Given the description of an element on the screen output the (x, y) to click on. 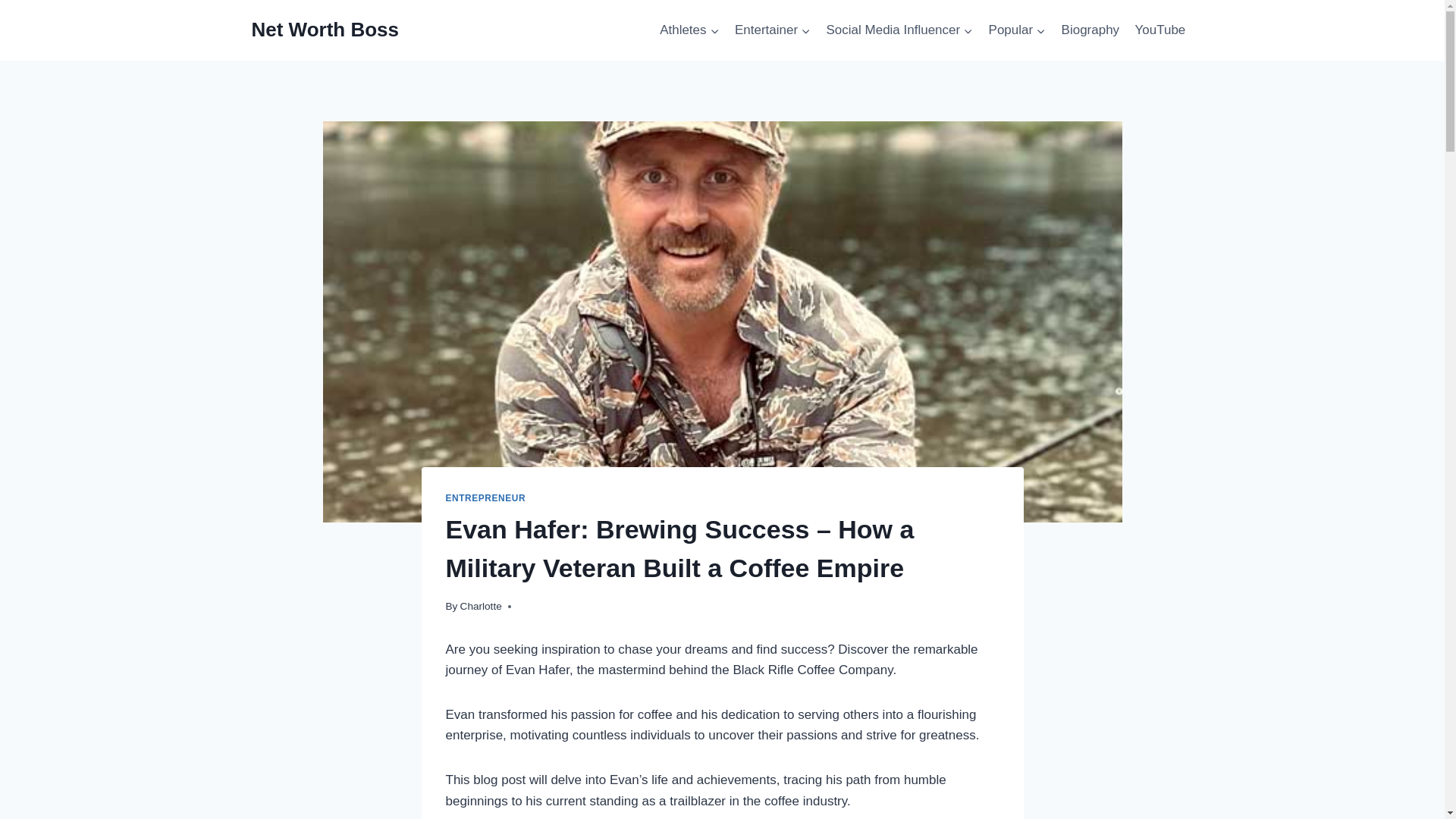
Social Media Influencer (898, 30)
Net Worth Boss (324, 29)
Athletes (689, 30)
ENTREPRENEUR (485, 498)
Entertainer (772, 30)
Biography (1089, 30)
Popular (1015, 30)
Charlotte (481, 605)
YouTube (1159, 30)
